Given the description of an element on the screen output the (x, y) to click on. 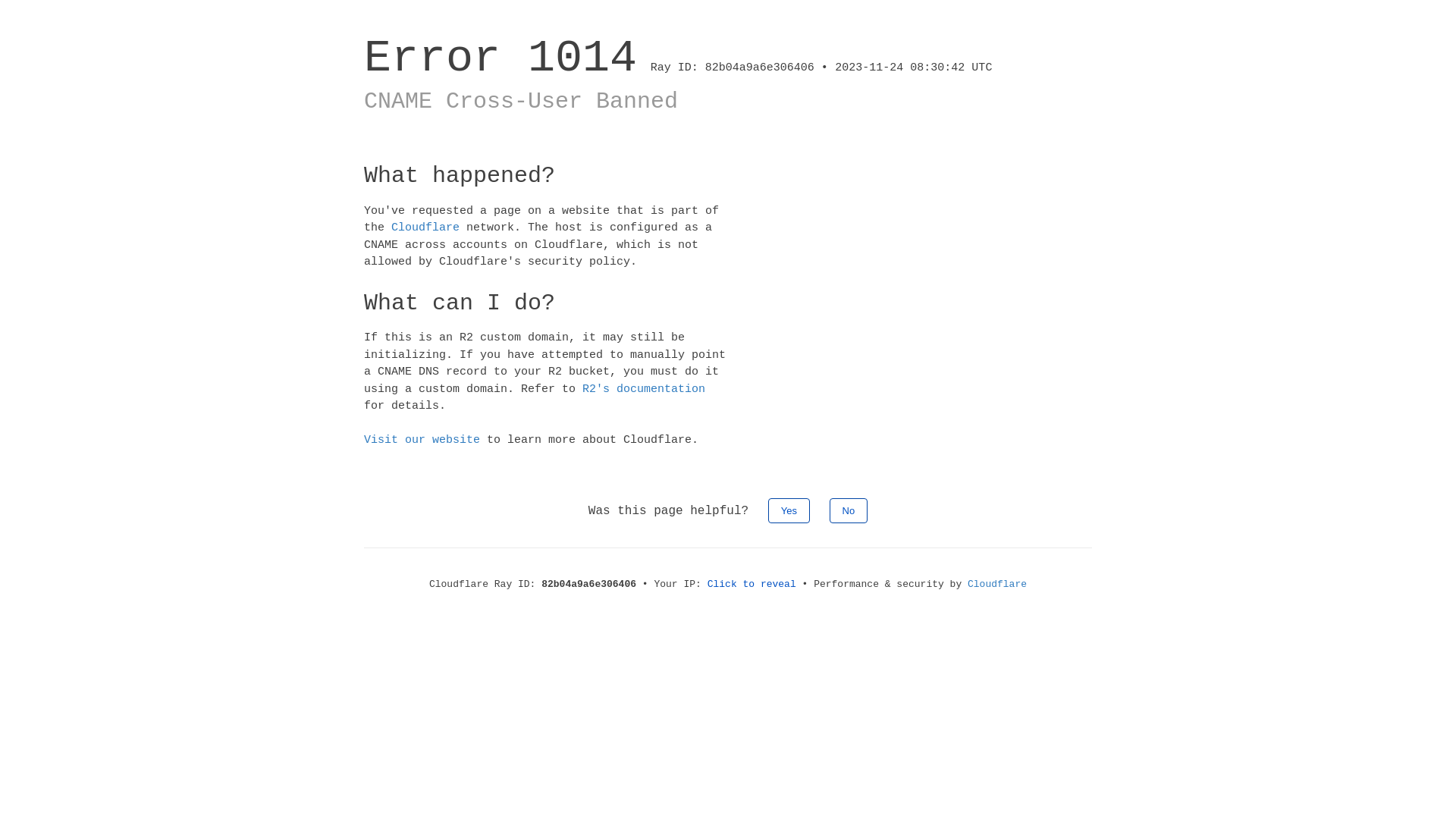
No Element type: text (848, 509)
Yes Element type: text (788, 509)
Cloudflare Element type: text (996, 583)
Visit our website Element type: text (422, 439)
Click to reveal Element type: text (751, 583)
Cloudflare Element type: text (425, 227)
R2's documentation Element type: text (643, 388)
